Given the description of an element on the screen output the (x, y) to click on. 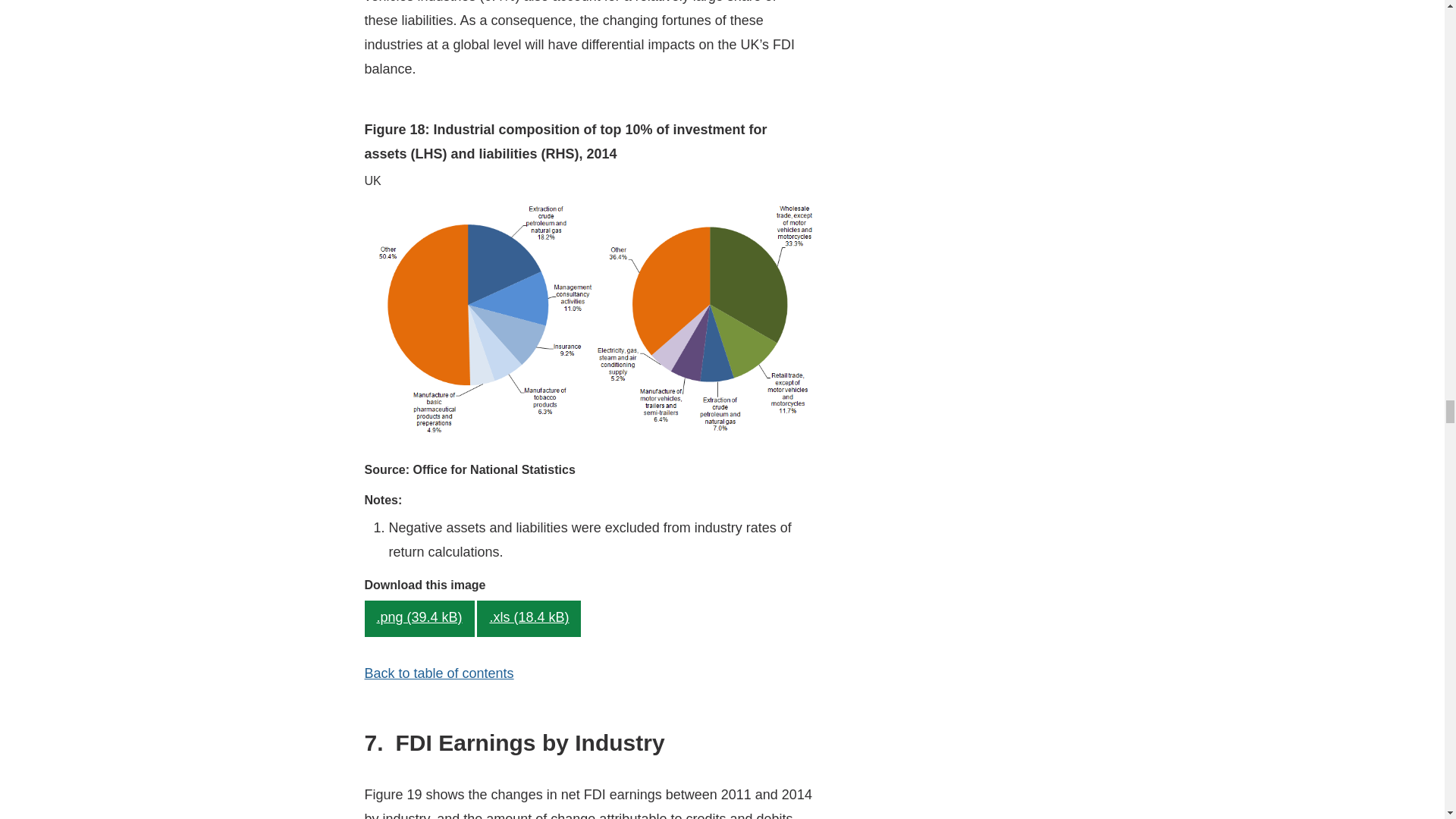
Back to table of contents (438, 672)
